Given the description of an element on the screen output the (x, y) to click on. 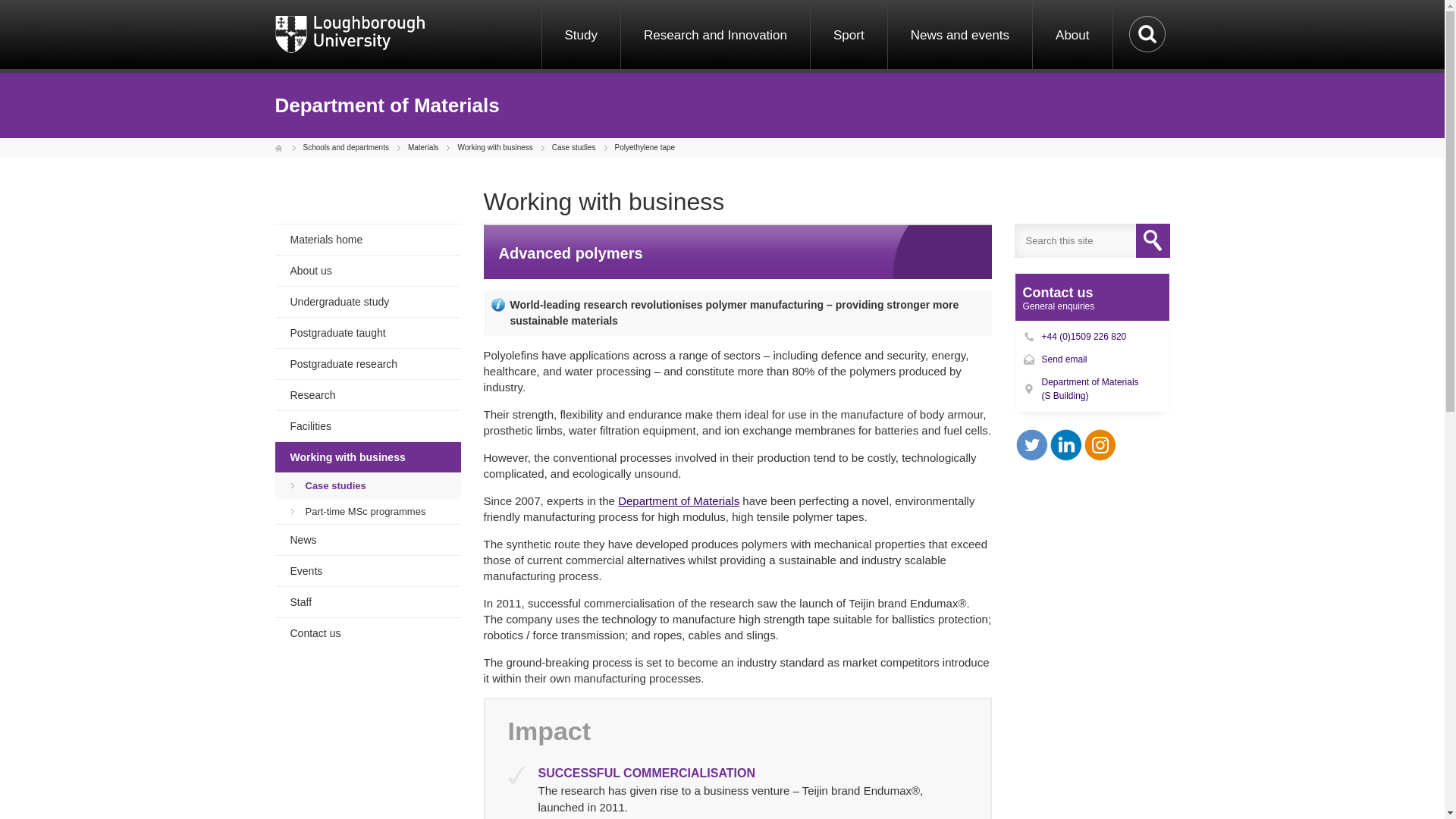
Contact us (367, 633)
Events (367, 571)
Part-time MSc programmes (367, 510)
Case studies (367, 485)
Sport (847, 36)
Polyethylene tape (643, 148)
Research (367, 395)
Materials (421, 148)
Schools and departments (343, 148)
About (1072, 36)
